Given the description of an element on the screen output the (x, y) to click on. 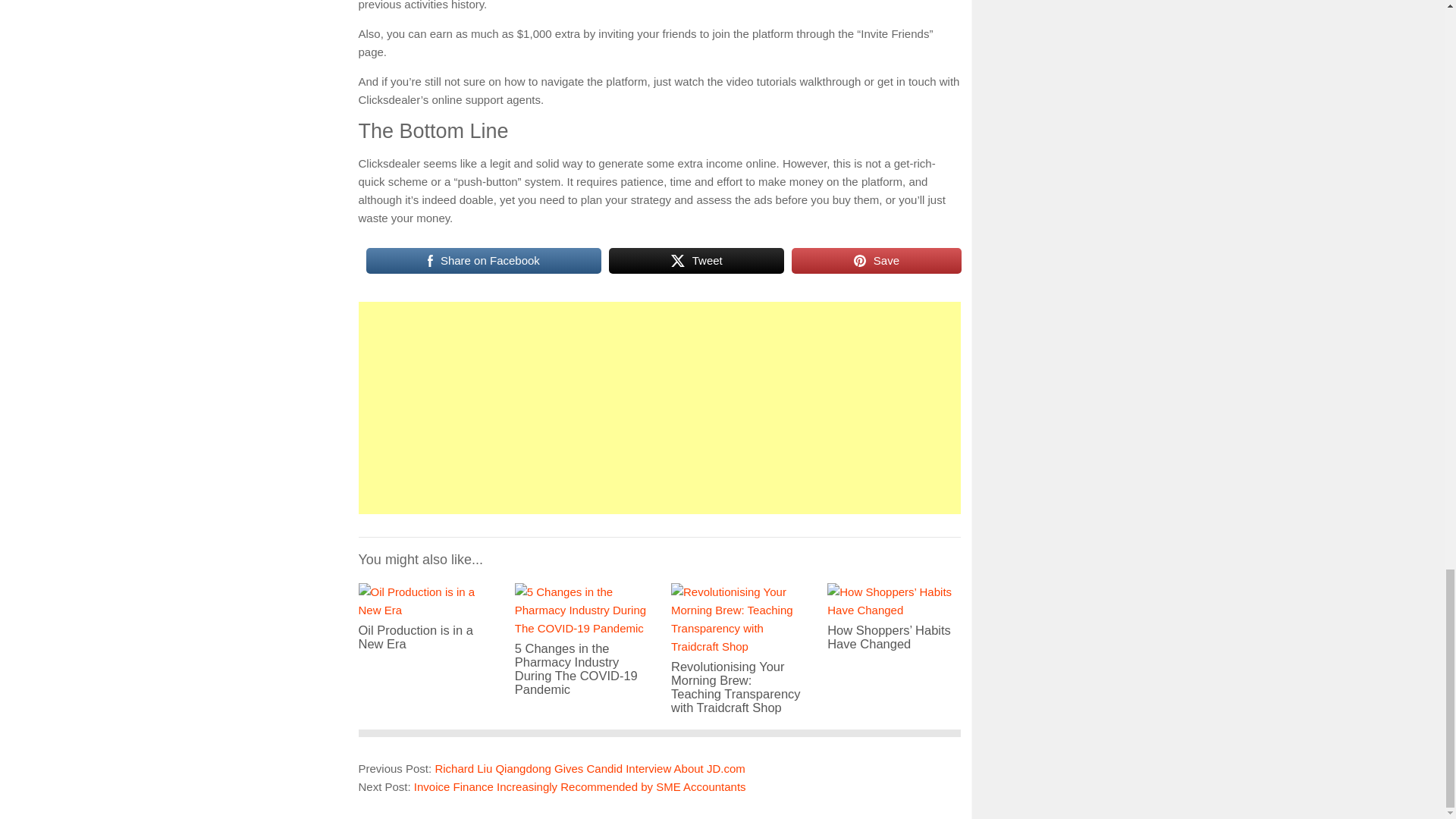
Oil Production is in a New Era (425, 626)
Save (876, 260)
Invoice Finance Increasingly Recommended by SME Accountants (579, 786)
Richard Liu Qiangdong Gives Candid Interview About JD.com (588, 768)
Tweet (696, 260)
Share on Facebook (483, 260)
